Given the description of an element on the screen output the (x, y) to click on. 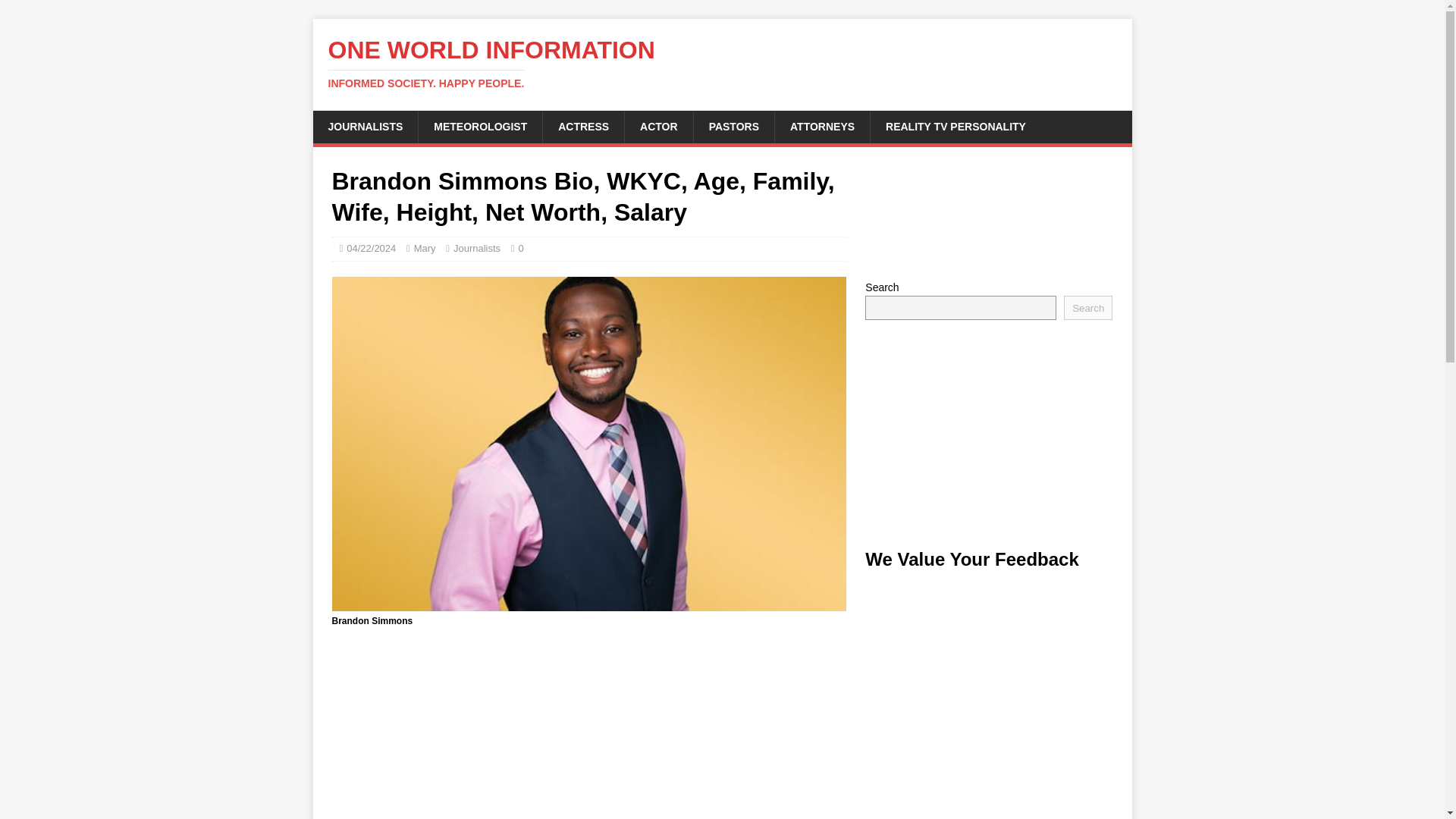
Search (1088, 307)
ATTORNEYS (821, 126)
Advertisement (988, 433)
Advertisement (588, 730)
REALITY TV PERSONALITY (955, 126)
Advertisement (988, 213)
ACTRESS (582, 126)
Mary (424, 247)
Advertisement (988, 692)
Journalists (476, 247)
PASTORS (733, 126)
One World Information (721, 63)
METEOROLOGIST (721, 63)
JOURNALISTS (479, 126)
